Given the description of an element on the screen output the (x, y) to click on. 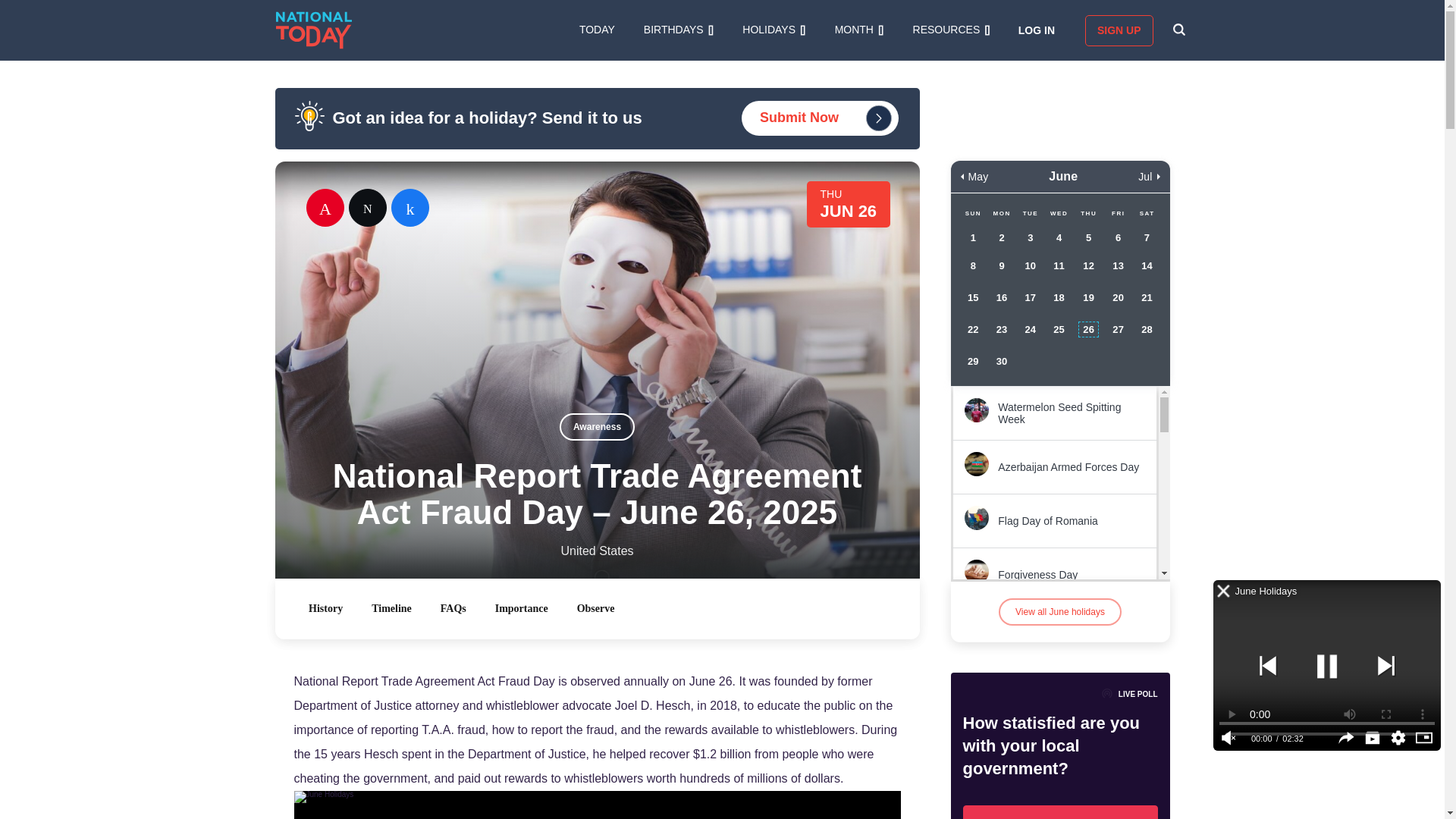
Toggle Fullscreen (1423, 739)
Pause Video (1327, 665)
National Today (314, 30)
Share Video (1346, 739)
HOLIDAYS (773, 29)
MONTH (858, 29)
SEARCH (1178, 29)
National Today (314, 30)
View Playlist (1372, 739)
Toggle Video Quality (1398, 739)
TODAY (596, 29)
BIRTHDAYS (678, 29)
Close (1224, 591)
Next Video (1385, 665)
Previous Video (1267, 665)
